Given the description of an element on the screen output the (x, y) to click on. 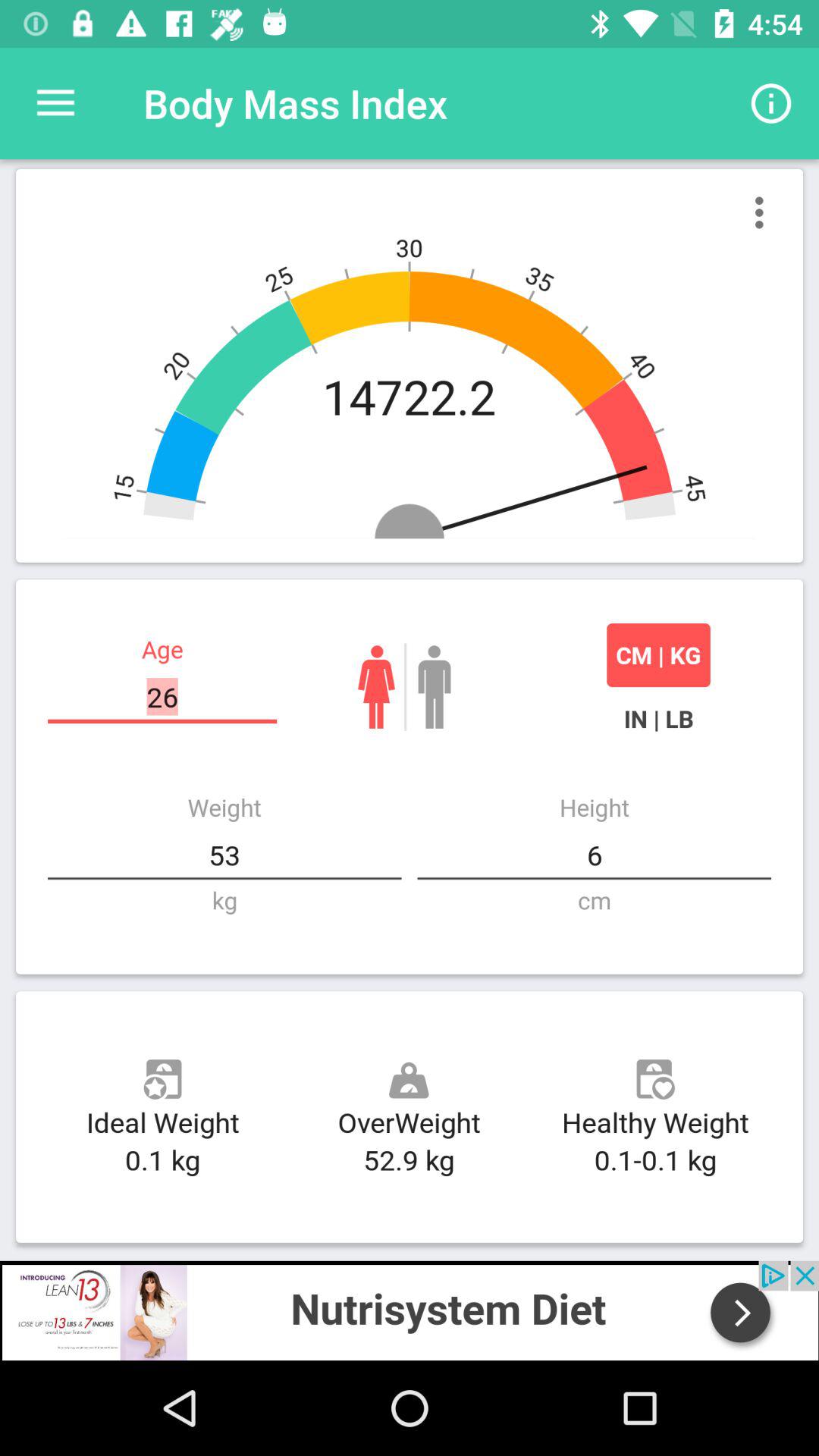
open advertisement (409, 1310)
